Given the description of an element on the screen output the (x, y) to click on. 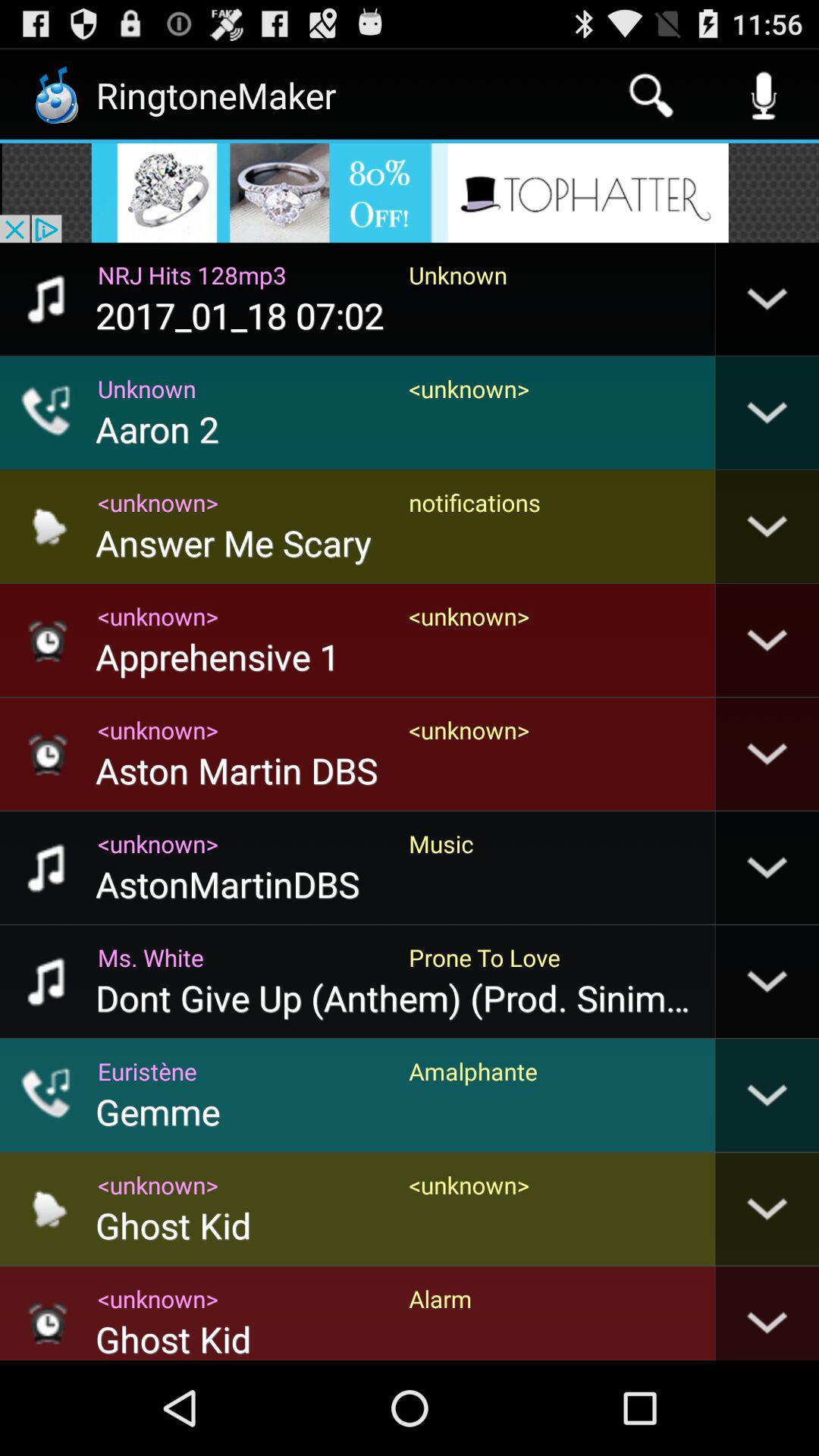
open page (409, 192)
